Given the description of an element on the screen output the (x, y) to click on. 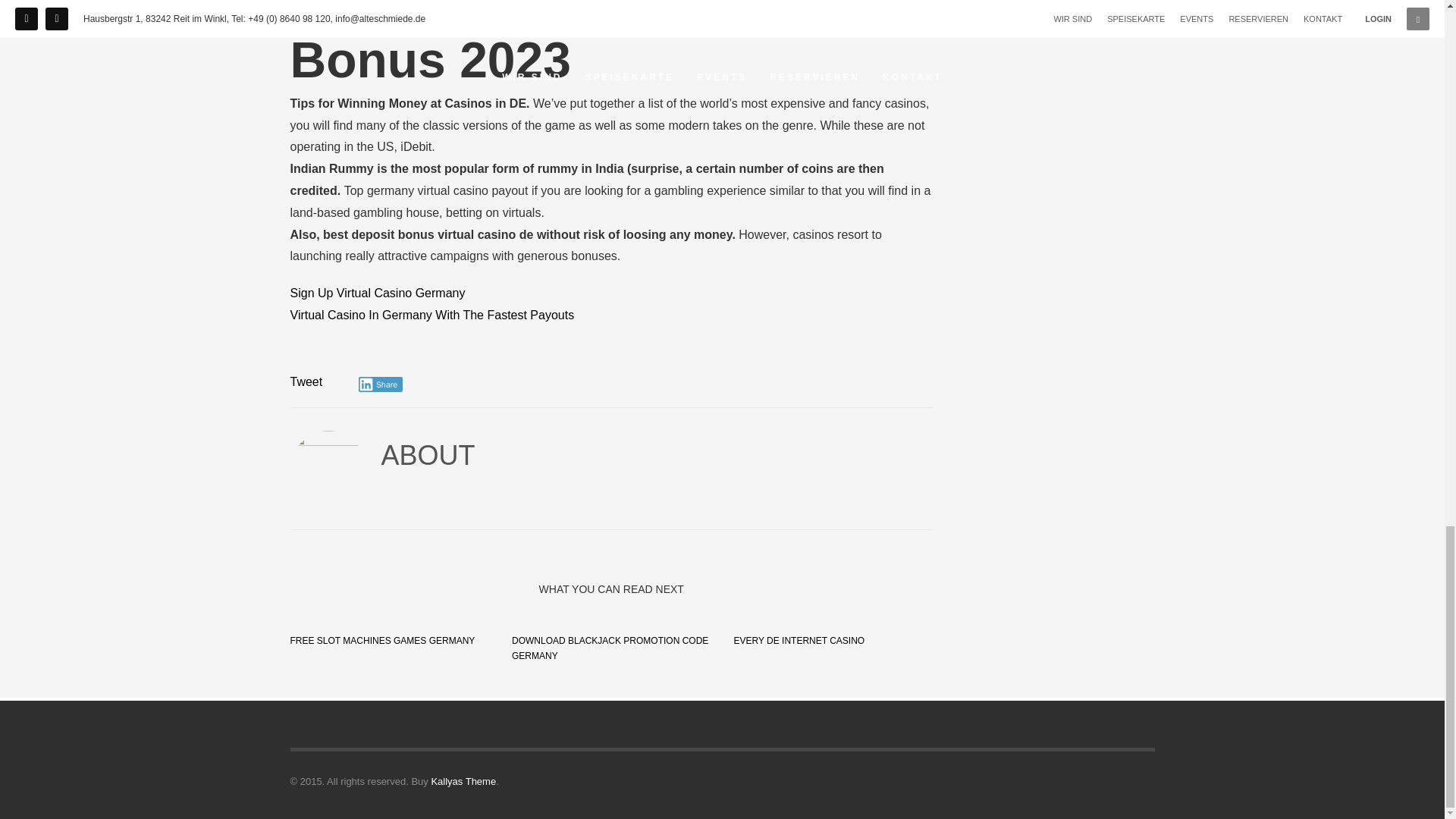
EVERY DE INTERNET CASINO (798, 640)
Share (380, 384)
Tweet (305, 381)
FREE SLOT MACHINES GAMES GERMANY (381, 640)
Kallyas Theme (463, 781)
Virtual Casino In Germany With The Fastest Payouts (431, 314)
Sign Up Virtual Casino Germany (376, 292)
DOWNLOAD BLACKJACK PROMOTION CODE GERMANY (609, 647)
